Given the description of an element on the screen output the (x, y) to click on. 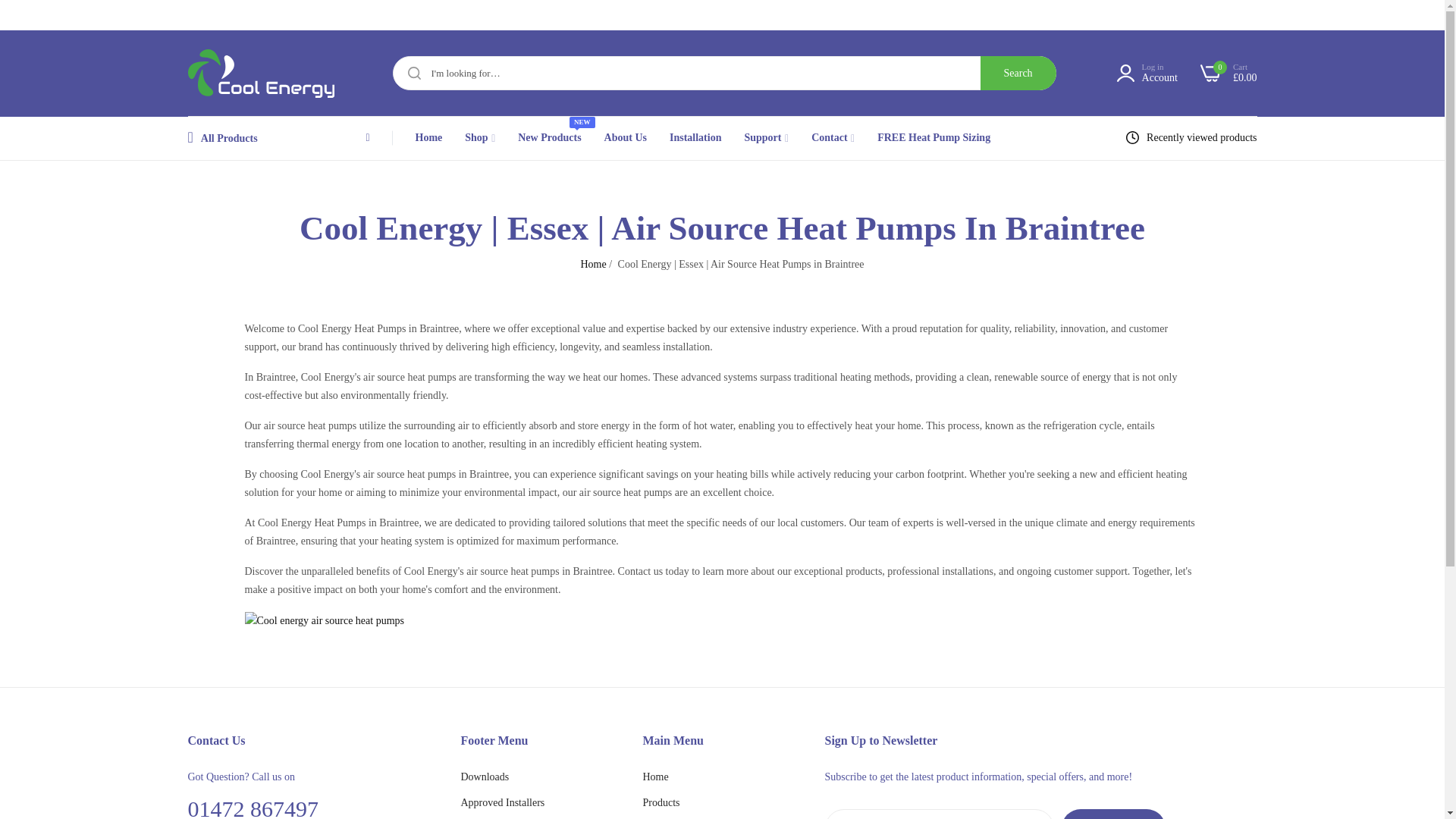
01472 867497 (215, 14)
Trade Account (1046, 14)
Cool Energy Shop (242, 73)
